Given the description of an element on the screen output the (x, y) to click on. 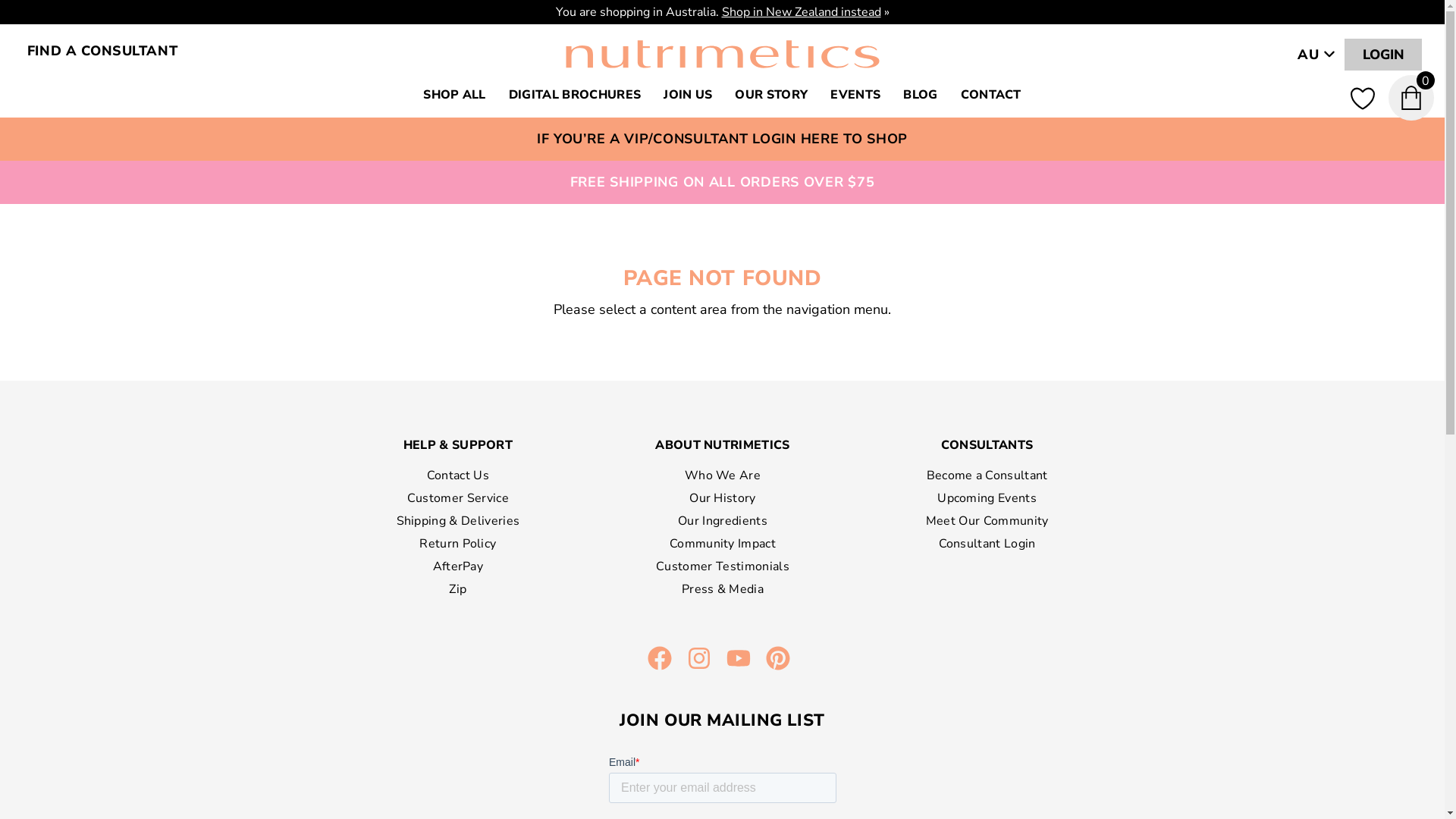
Customer Service Element type: text (457, 497)
Contact Us Element type: text (457, 475)
0 Element type: text (1416, 97)
FIND A CONSULTANT Element type: text (102, 50)
LOGIN Element type: text (1382, 54)
Consultant Login Element type: text (986, 543)
OUR STORY Element type: text (771, 94)
CONSULTANTS Element type: text (986, 444)
Who We Are Element type: text (722, 475)
Our Ingredients Element type: text (722, 520)
JOIN US Element type: text (687, 94)
BLOG Element type: text (919, 94)
Return Policy Element type: text (457, 543)
Customer Testimonials Element type: text (722, 566)
Zip Element type: text (457, 588)
HELP & SUPPORT Element type: text (457, 444)
Shop in New Zealand instead Element type: text (801, 11)
Upcoming Events Element type: text (986, 497)
FREE SHIPPING ON ALL ORDERS OVER $75 Element type: text (722, 181)
Press & Media Element type: text (722, 588)
DIGITAL BROCHURES Element type: text (574, 94)
Meet Our Community Element type: text (986, 520)
Our History Element type: text (722, 497)
SHOP ALL Element type: text (454, 94)
AfterPay Element type: text (457, 566)
EVENTS Element type: text (855, 94)
ABOUT NUTRIMETICS Element type: text (722, 444)
CONTACT Element type: text (990, 94)
Shipping & Deliveries Element type: text (457, 520)
AU Element type: text (1316, 54)
Become a Consultant Element type: text (986, 475)
Community Impact Element type: text (722, 543)
